Given the description of an element on the screen output the (x, y) to click on. 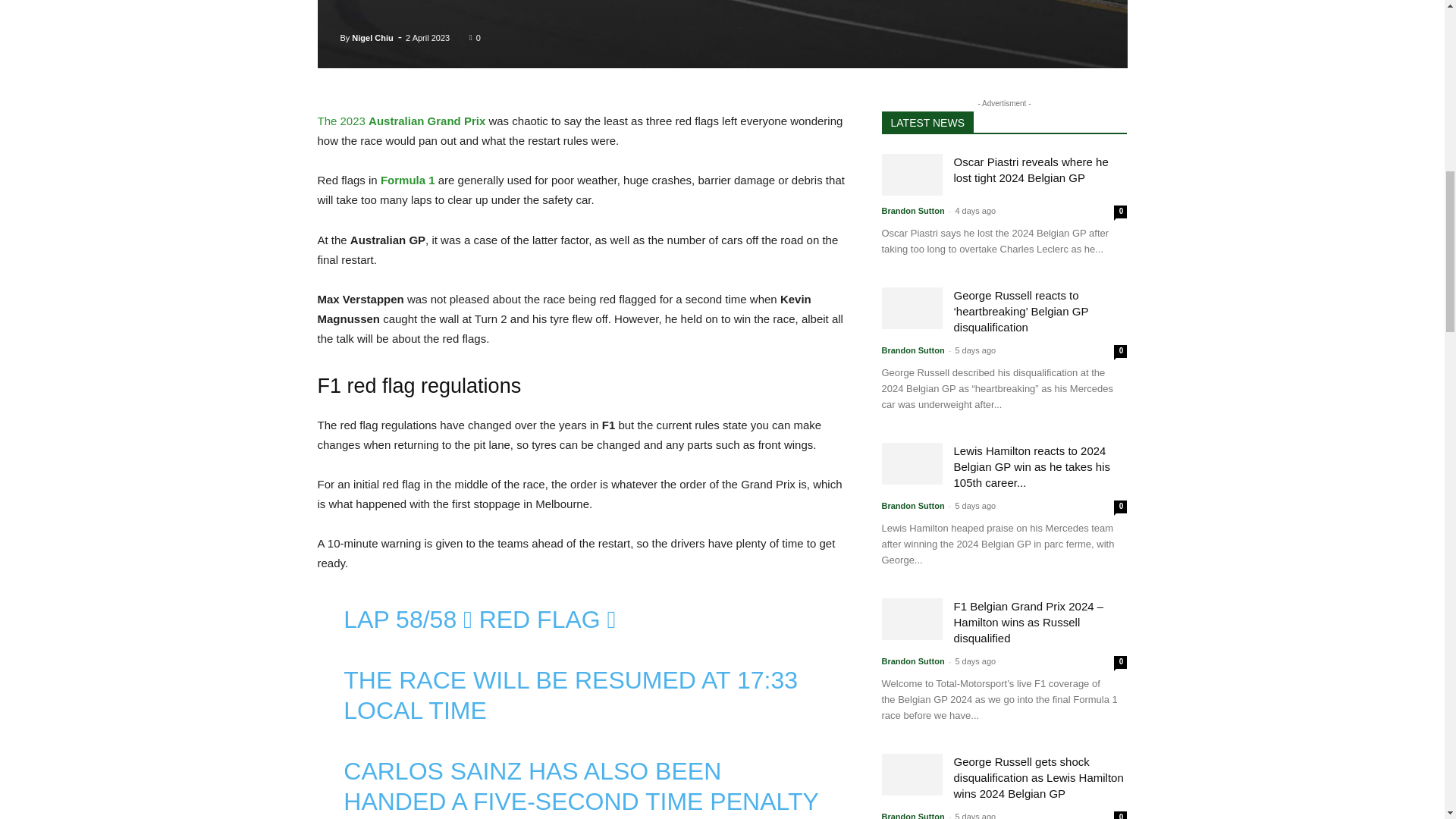
0 (474, 36)
2023 Australian Grand Prix, Friday - Jiri Krenek (721, 34)
Nigel Chiu (372, 37)
